Given the description of an element on the screen output the (x, y) to click on. 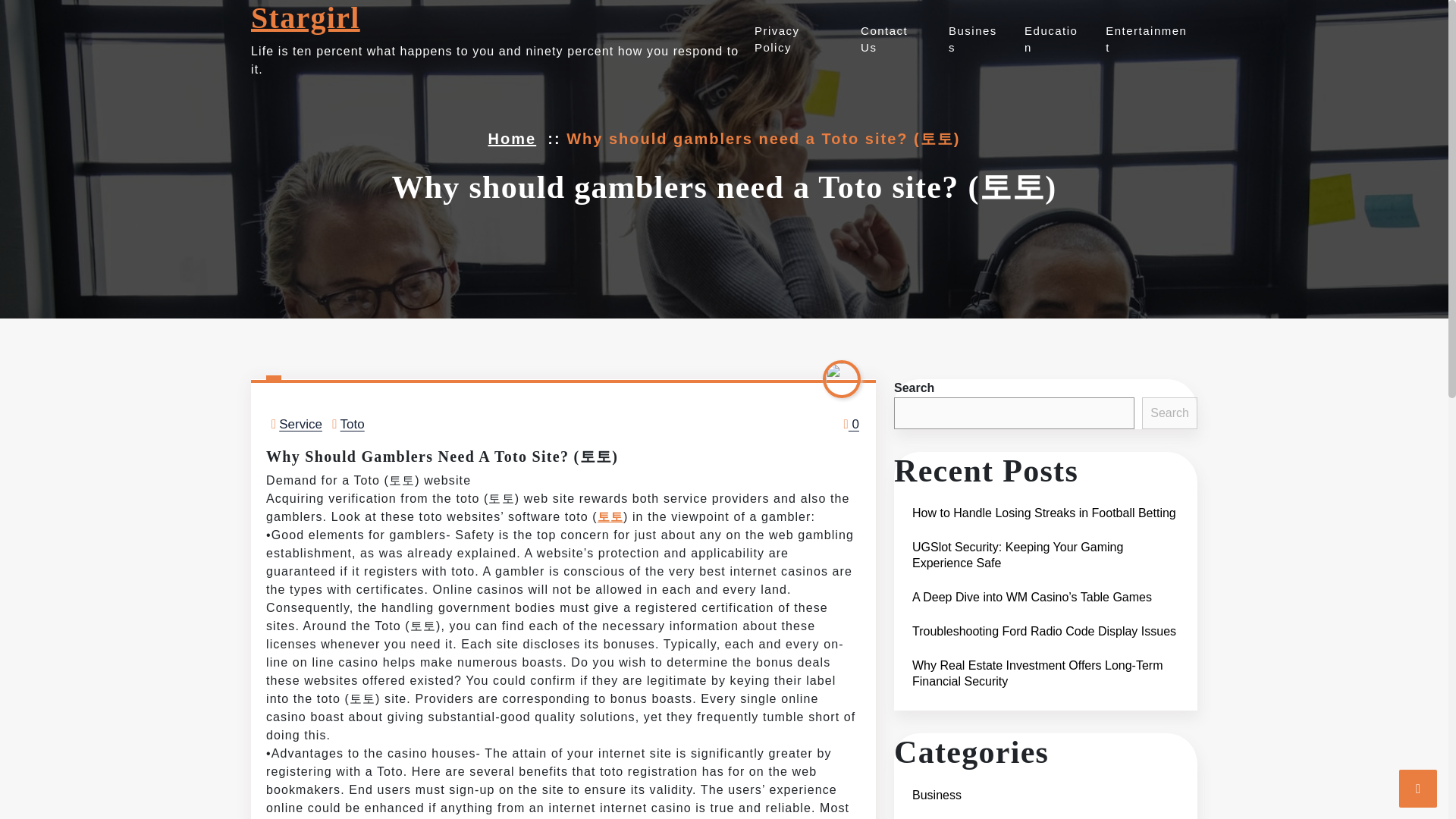
Business (935, 795)
Troubleshooting Ford Radio Code Display Issues (1043, 631)
Business (972, 39)
Education (938, 817)
Toto (352, 423)
Privacy Policy (794, 39)
Service (300, 423)
UGSlot Security: Keeping Your Gaming Experience Safe (1045, 554)
Entertainment (1144, 39)
Business (972, 39)
